Given the description of an element on the screen output the (x, y) to click on. 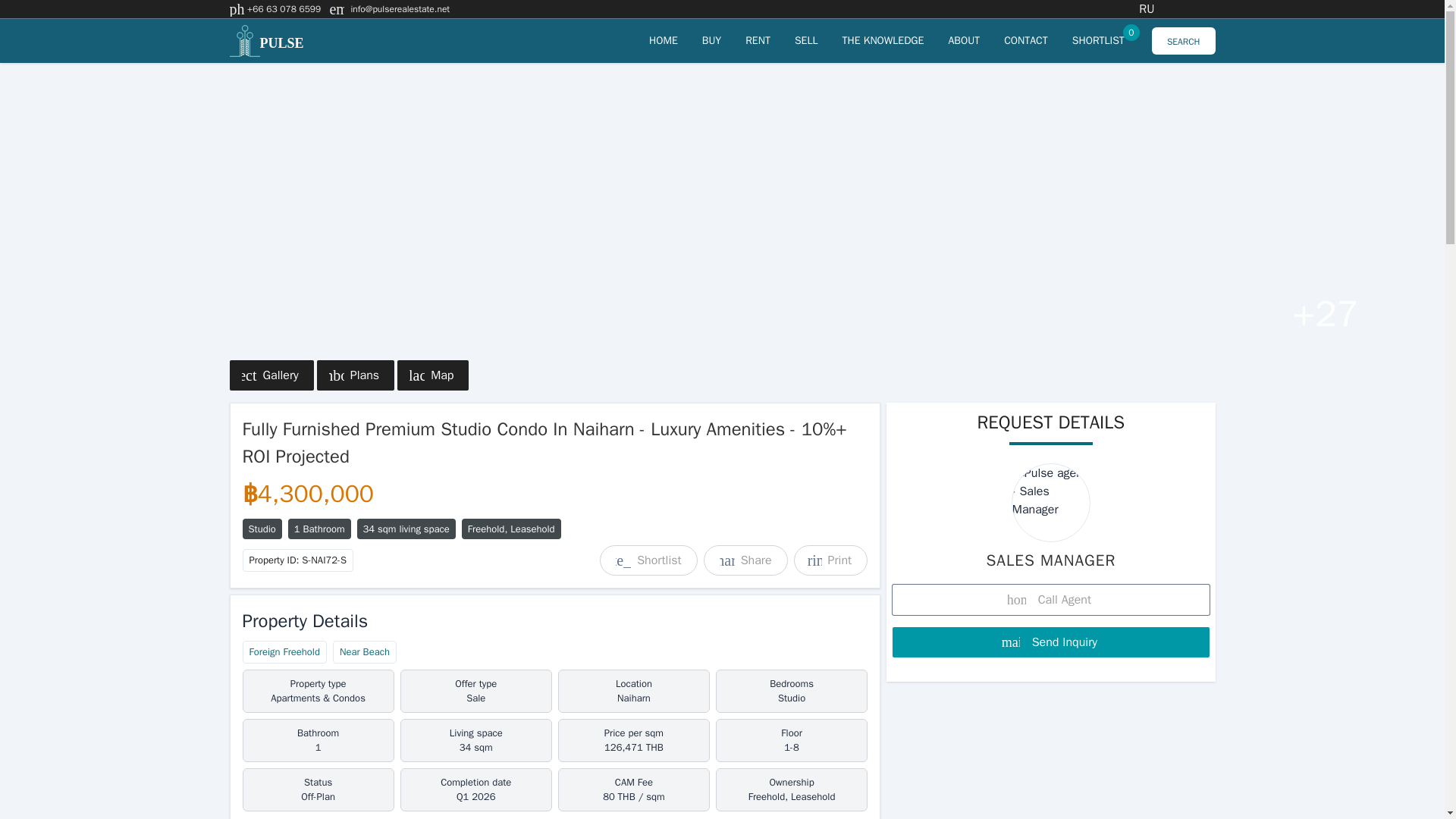
Email (399, 8)
CONTACT (1026, 40)
Contact Pulse Real Estate (1026, 40)
ABOUT (963, 40)
Home - Pulse Real Estate (663, 40)
SEARCH (1183, 40)
HOME (663, 40)
BUY (710, 40)
SELL (806, 40)
Sell your property in Phuket (806, 40)
RENT (757, 40)
Property Shortlist (1097, 40)
About Pulse Real Estate (963, 40)
Phuket property news and knowledge (882, 40)
